Given the description of an element on the screen output the (x, y) to click on. 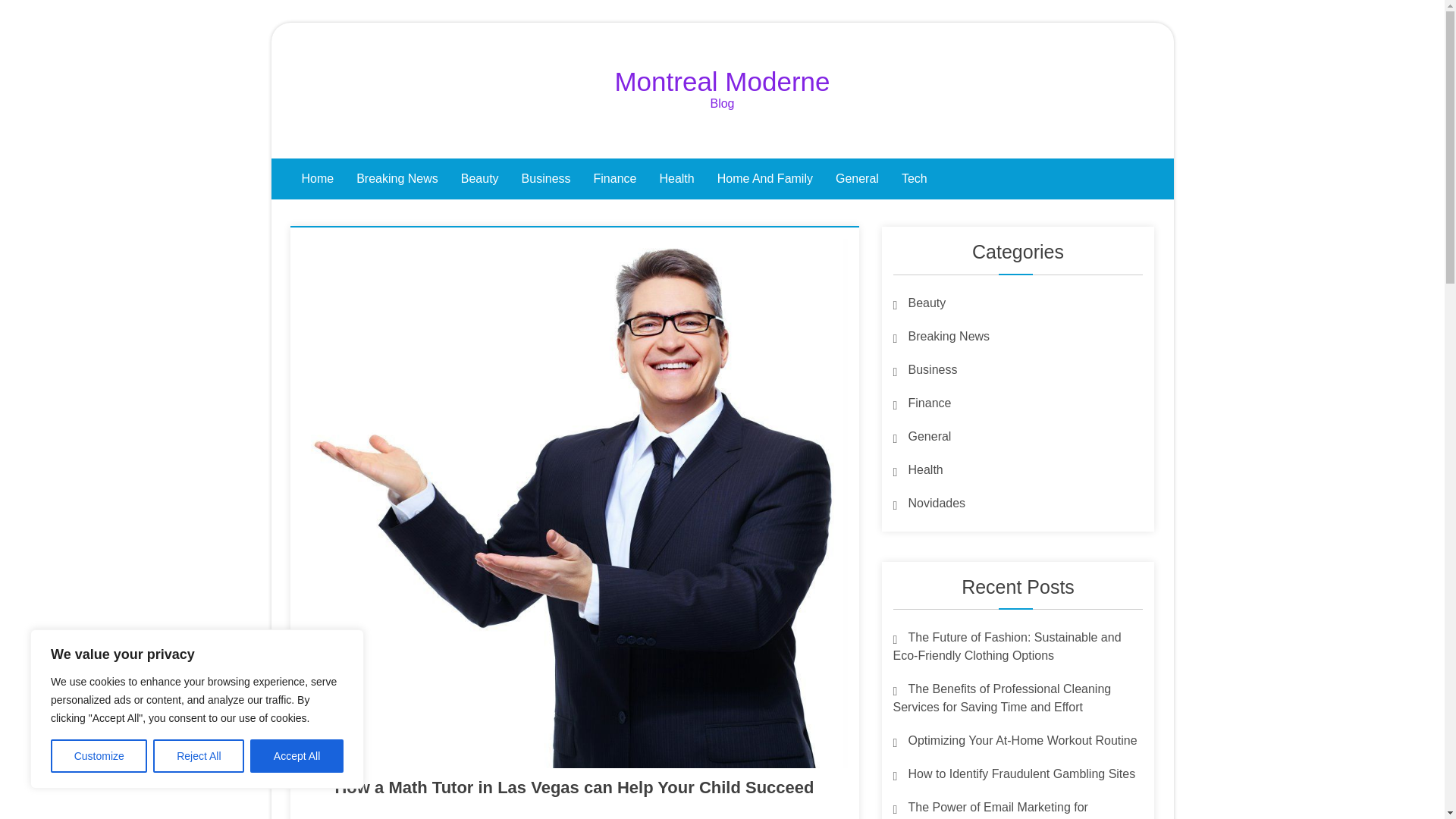
Business (546, 178)
Montreal Moderne (721, 81)
Finance (922, 401)
Customize (98, 756)
Breaking News (397, 178)
Business (925, 368)
Beauty (480, 178)
General (922, 435)
General (856, 178)
Home And Family (765, 178)
Reject All (198, 756)
Beauty (919, 301)
Home (317, 178)
Accept All (296, 756)
